Given the description of an element on the screen output the (x, y) to click on. 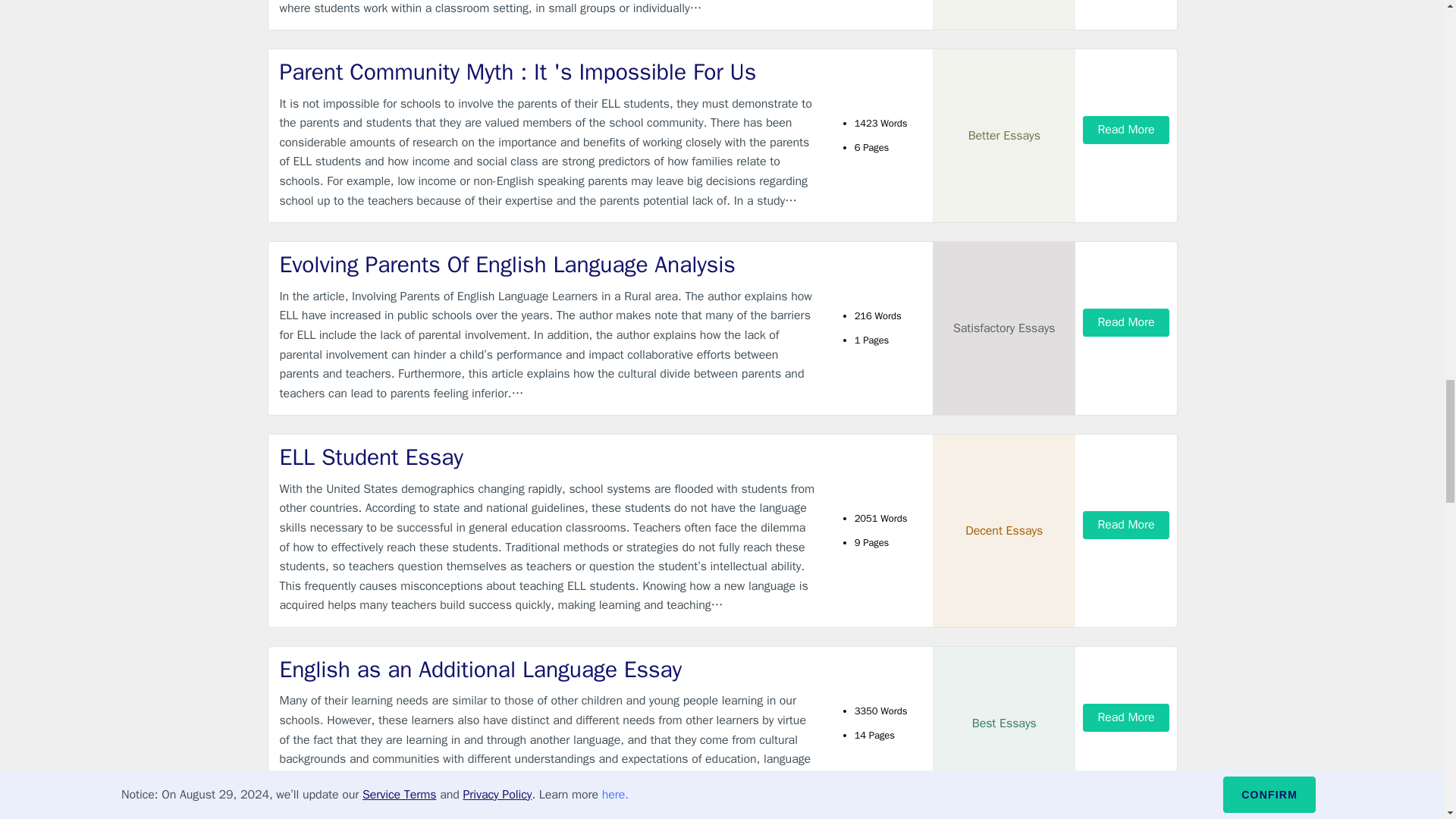
Read More (1126, 130)
Read More (1126, 322)
Evolving Parents Of English Language Analysis (548, 264)
Parent Community Myth : It 's Impossible For Us (548, 71)
Read More (1126, 524)
ELL Student Essay (548, 457)
